Given the description of an element on the screen output the (x, y) to click on. 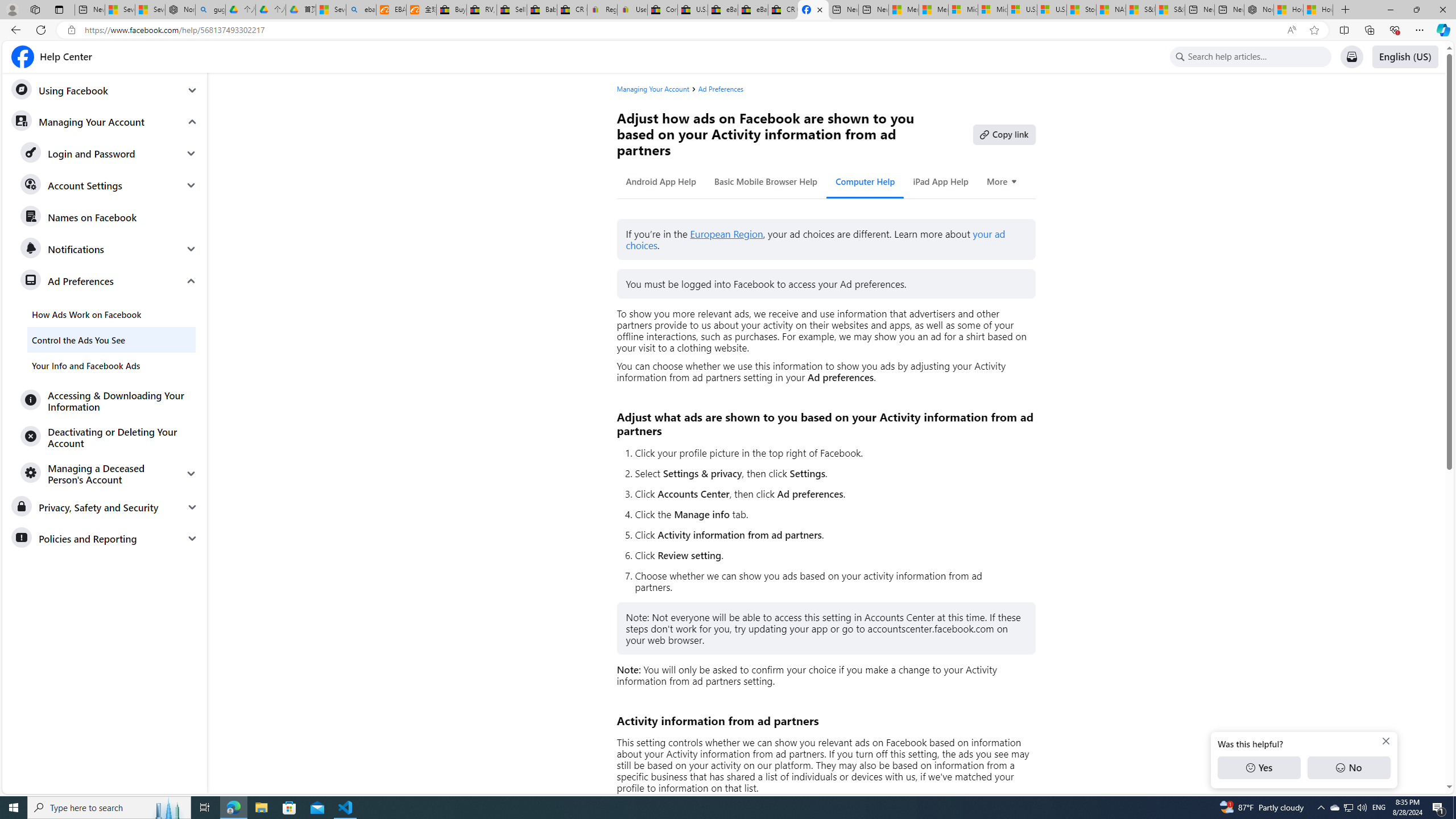
Policies and Reporting (104, 538)
Consumer Health Data Privacy Policy - eBay Inc. (662, 9)
More (1001, 181)
Managing Your Account (651, 89)
Accessing & Downloading Your Information (109, 400)
Accessing & Downloading Your Information (108, 400)
iPad App Help (940, 181)
Click your profile picture in the top right of Facebook. (829, 452)
Your Info and Facebook Ads (111, 365)
